Given the description of an element on the screen output the (x, y) to click on. 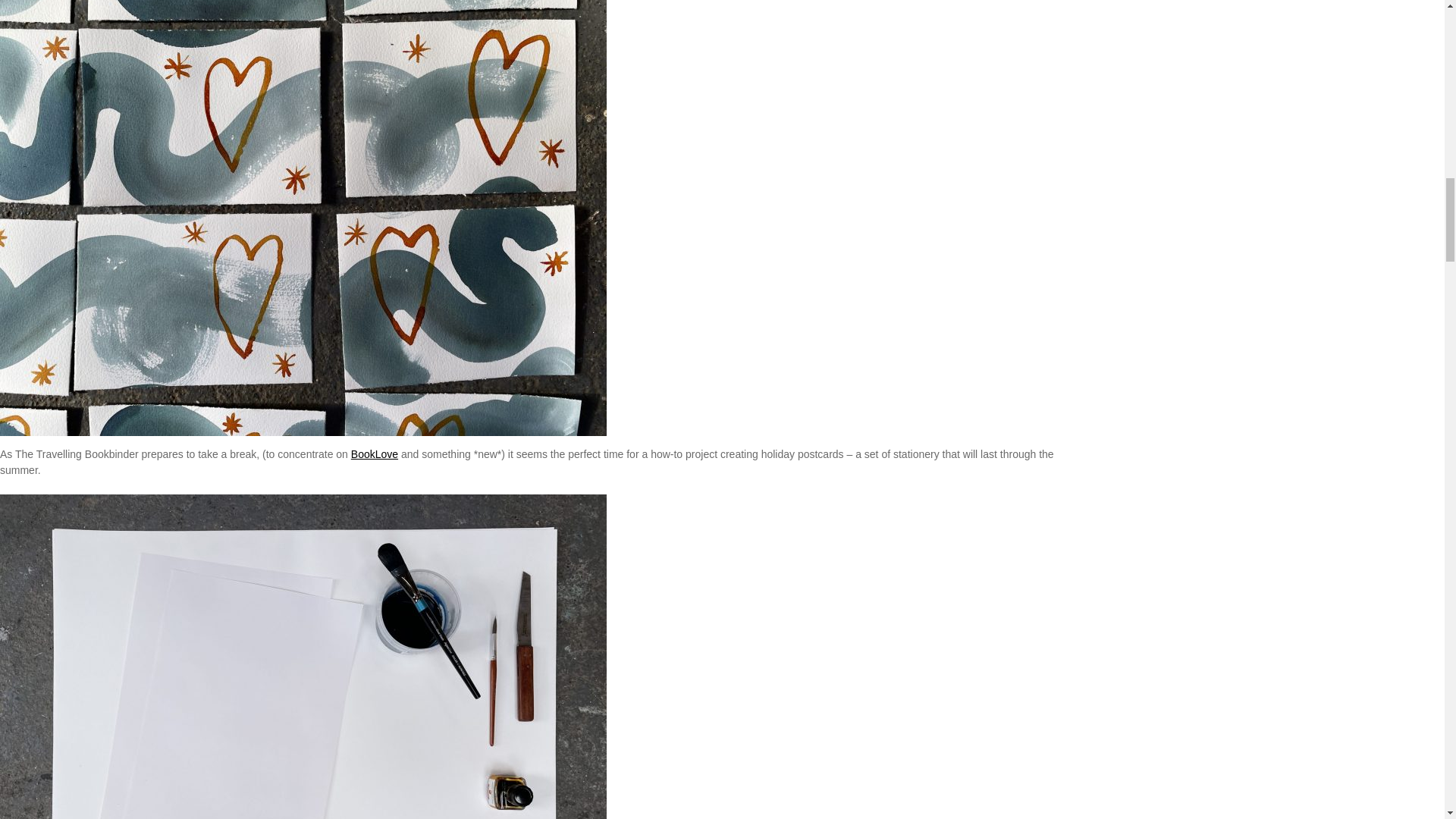
BookLove (373, 453)
